Given the description of an element on the screen output the (x, y) to click on. 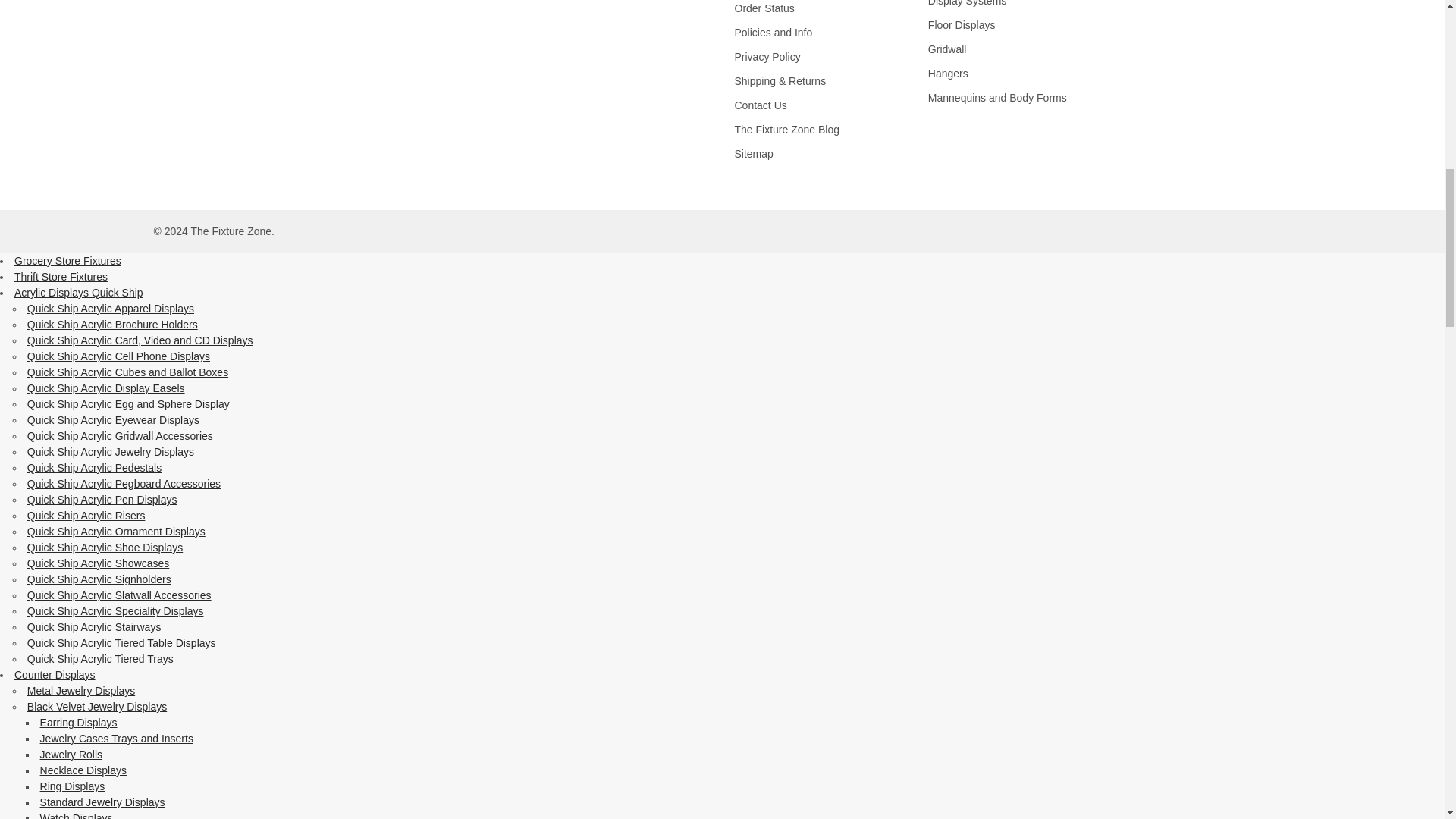
Twitter (191, 6)
Facebook (164, 6)
Pinterest (219, 6)
